Given the description of an element on the screen output the (x, y) to click on. 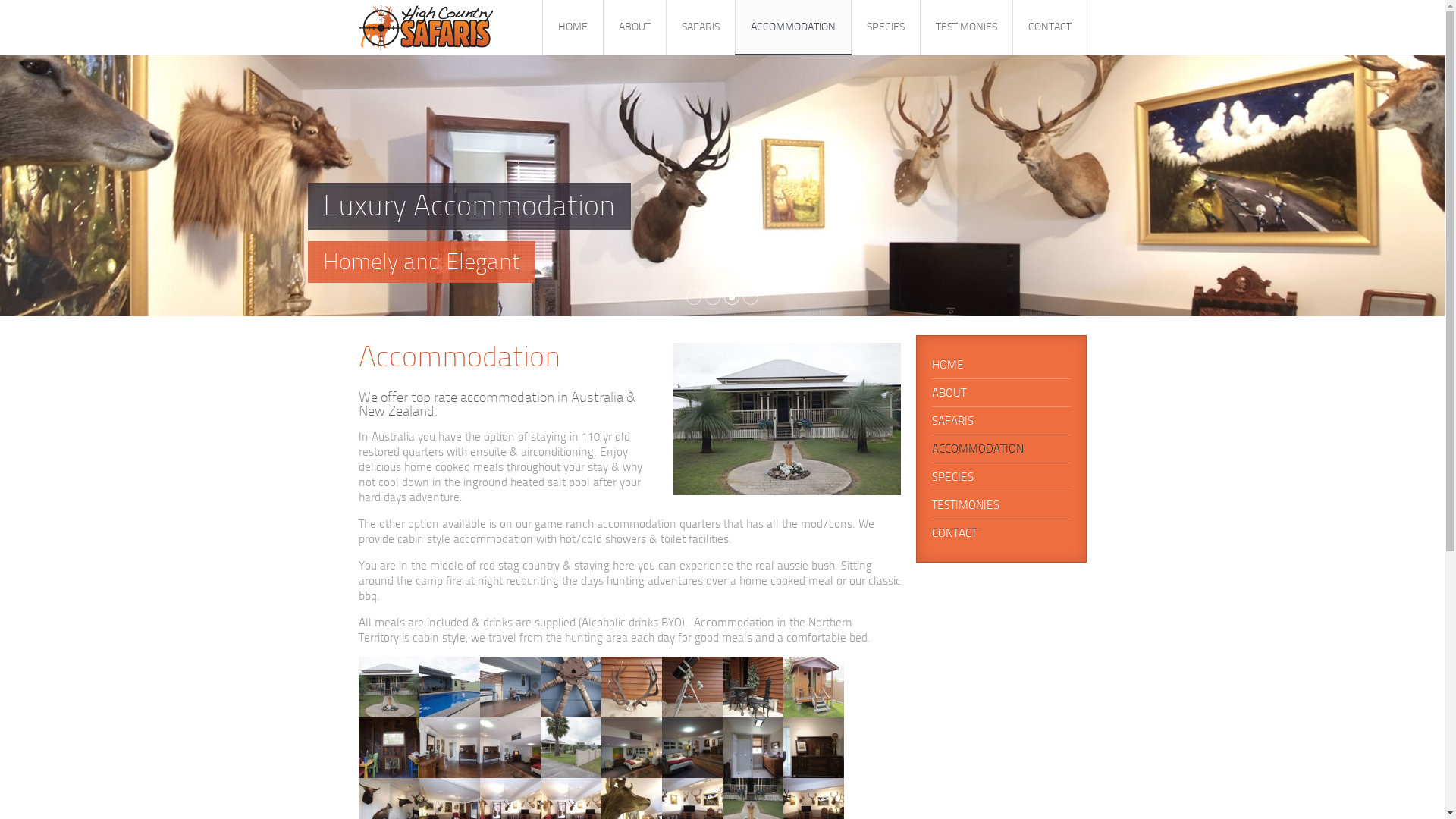
TESTIMONIES Element type: text (1000, 504)
HOME Element type: text (1000, 364)
ACCOMMODATION Element type: text (792, 27)
SAFARIS Element type: text (700, 27)
ABOUT Element type: text (633, 27)
SPECIES Element type: text (885, 27)
CONTACT Element type: text (1000, 532)
CONTACT Element type: text (1048, 27)
ABOUT Element type: text (1000, 392)
SPECIES Element type: text (1000, 476)
ACCOMMODATION Element type: text (1000, 448)
SAFARIS Element type: text (1000, 420)
TESTIMONIES Element type: text (965, 27)
HOME Element type: text (571, 27)
